Given the description of an element on the screen output the (x, y) to click on. 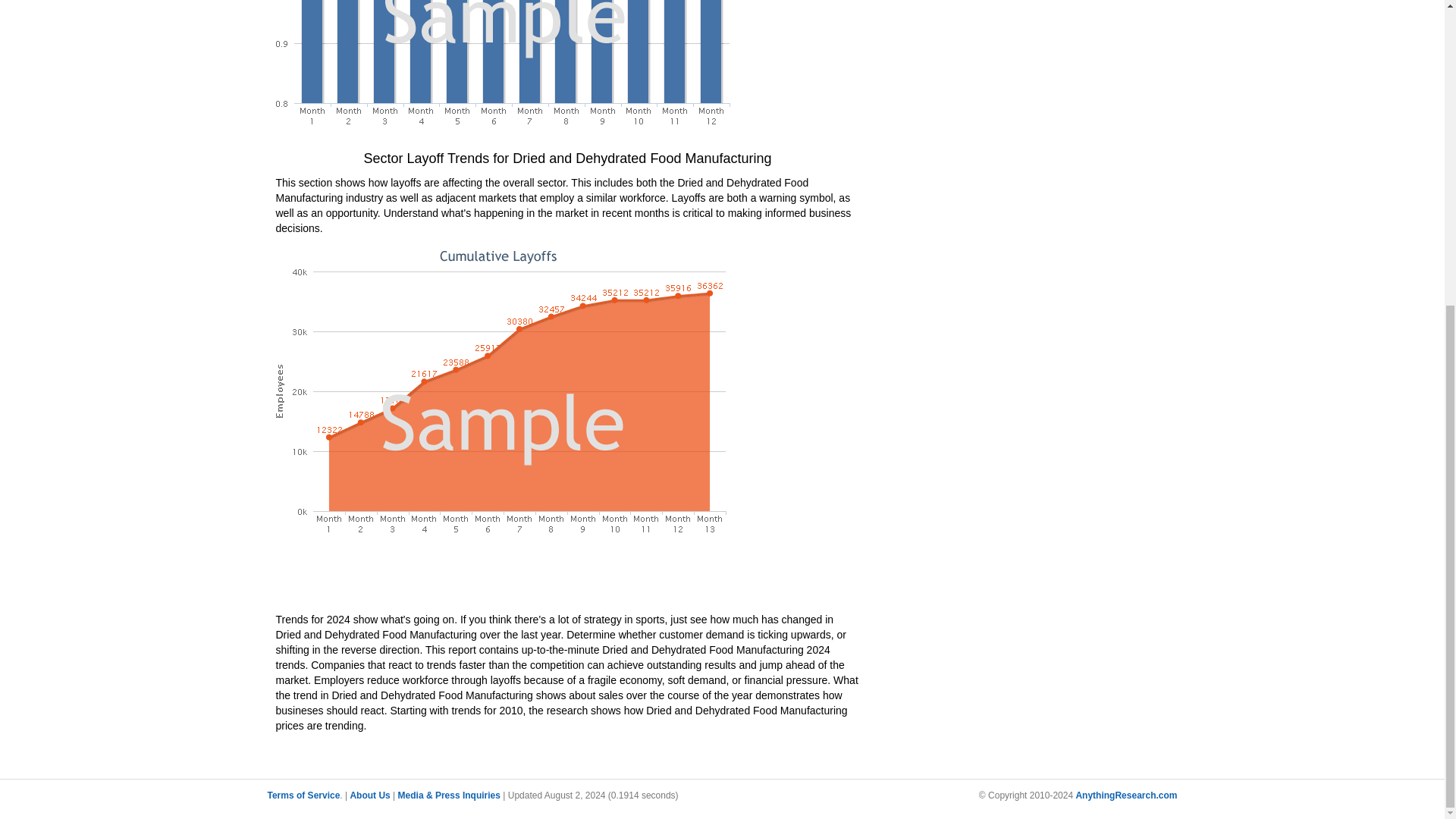
Terms of Service (302, 795)
AnythingResearch.com (1125, 795)
About Us (369, 795)
